Given the description of an element on the screen output the (x, y) to click on. 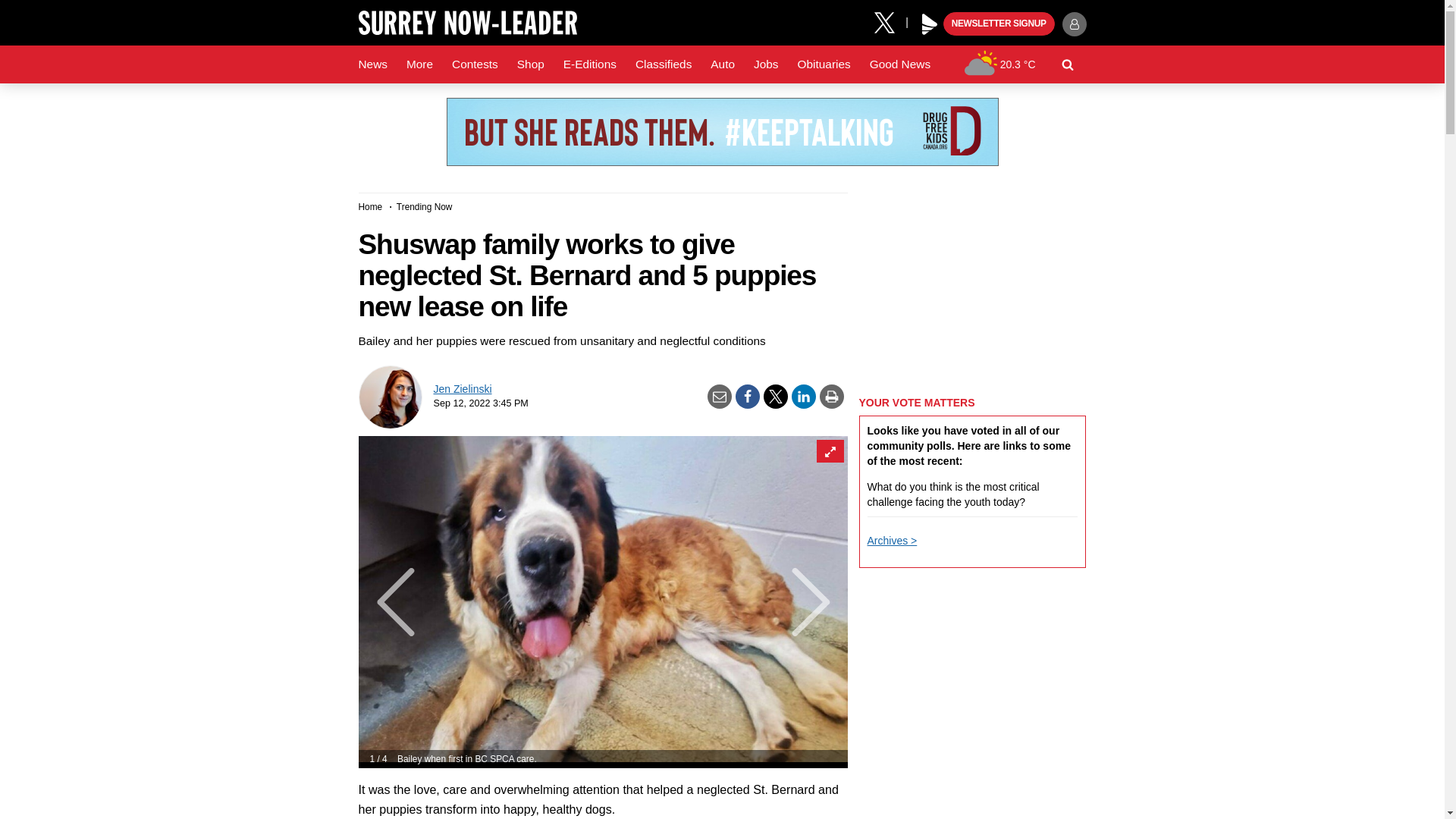
NEWSLETTER SIGNUP (998, 24)
X (889, 21)
News (372, 64)
Expand (829, 450)
3rd party ad content (721, 131)
Play (929, 24)
Black Press Media (929, 24)
